Given the description of an element on the screen output the (x, y) to click on. 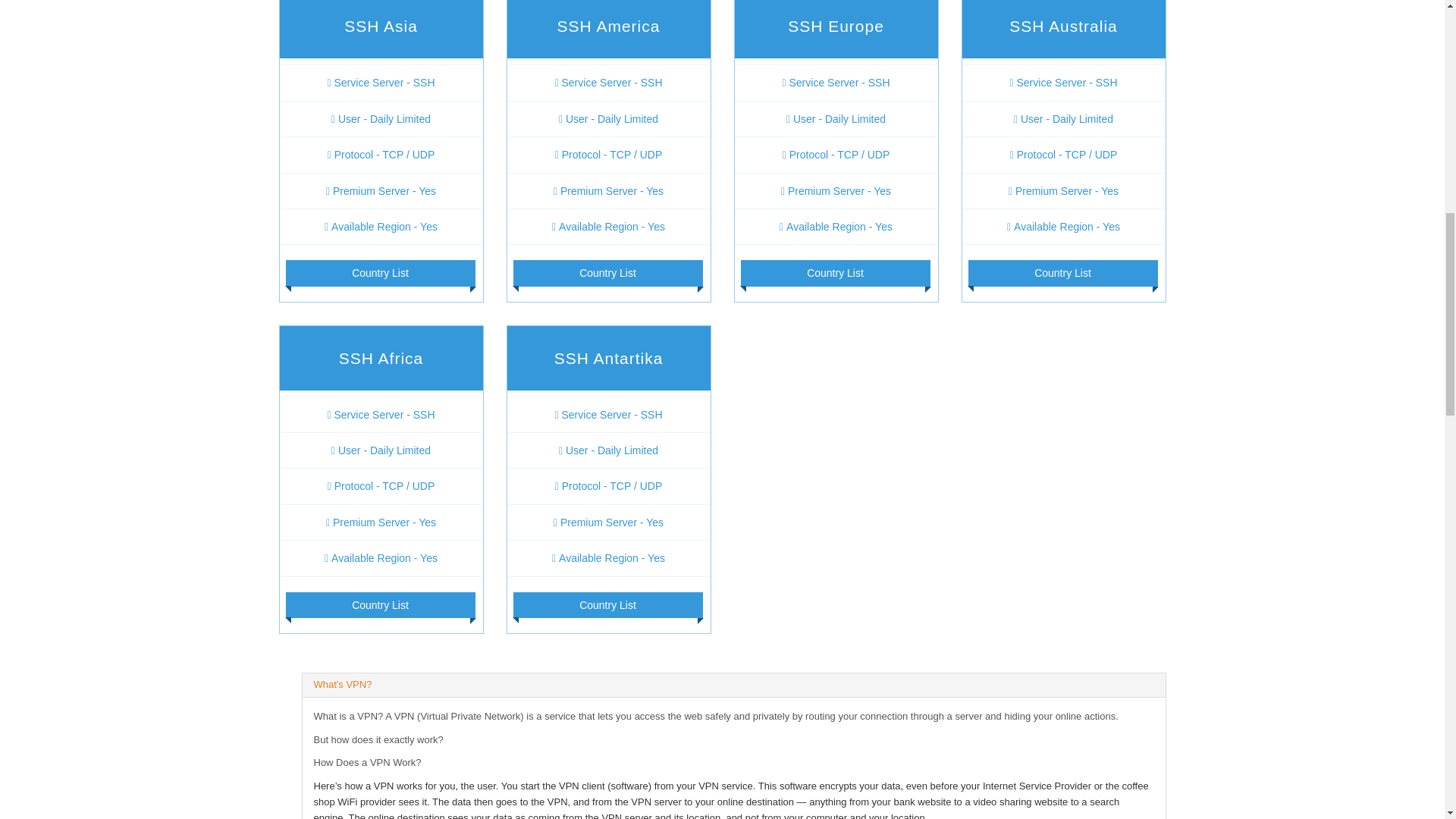
Country List (1062, 272)
Country List (379, 605)
Country List (606, 272)
Country List (379, 272)
Country List (606, 605)
What's VPN? (343, 684)
Country List (834, 272)
